Given the description of an element on the screen output the (x, y) to click on. 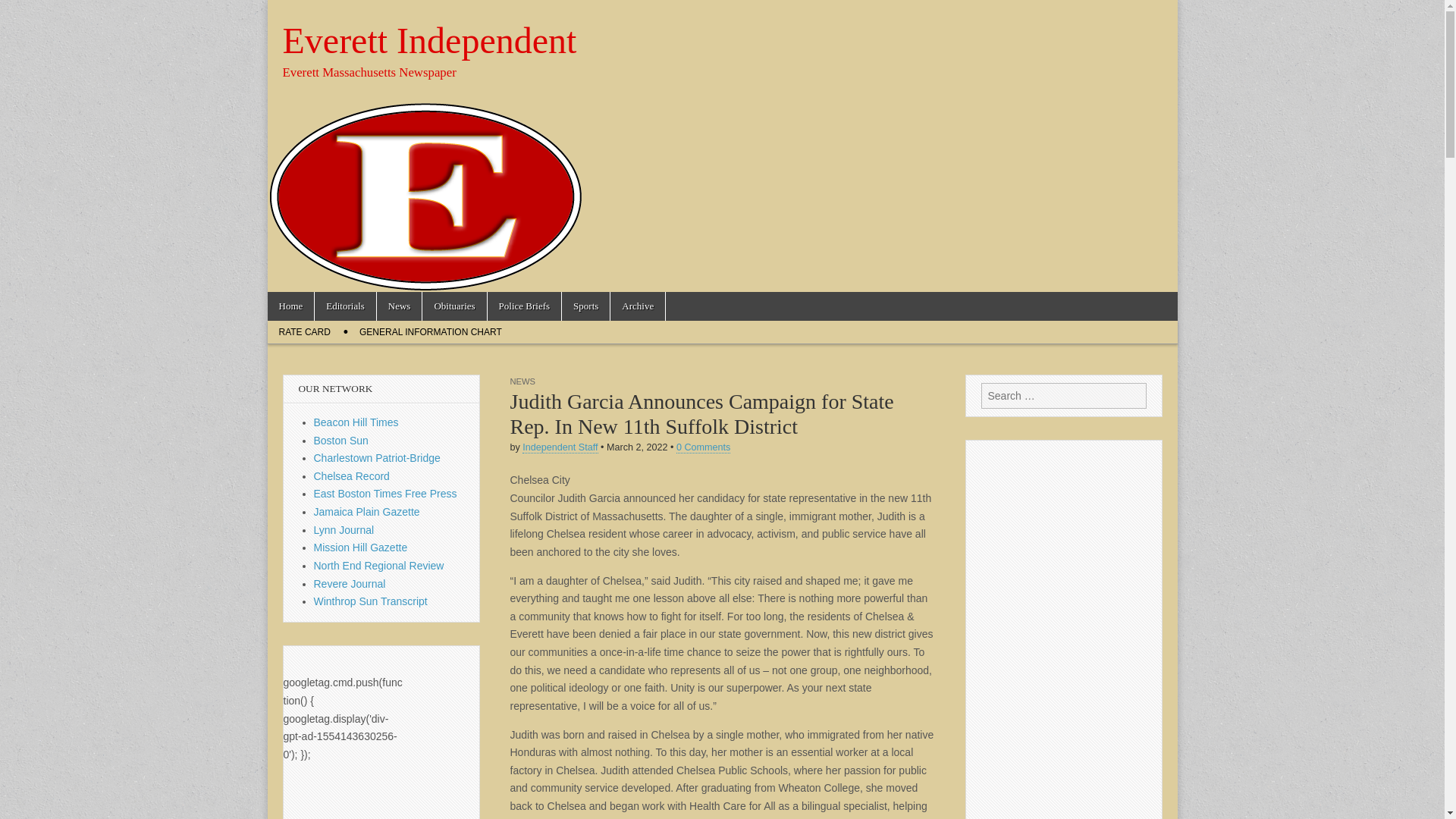
Everett Independent (429, 40)
Archive (637, 306)
Editorials (344, 306)
Chelsea Record (352, 476)
Posts by Independent Staff (559, 447)
Mission Hill Gazette (360, 547)
Lynn Journal (344, 530)
RATE CARD (303, 332)
GENERAL INFORMATION CHART (430, 332)
Everett Independent (429, 40)
0 Comments (703, 447)
Boston Sun (341, 440)
